Given the description of an element on the screen output the (x, y) to click on. 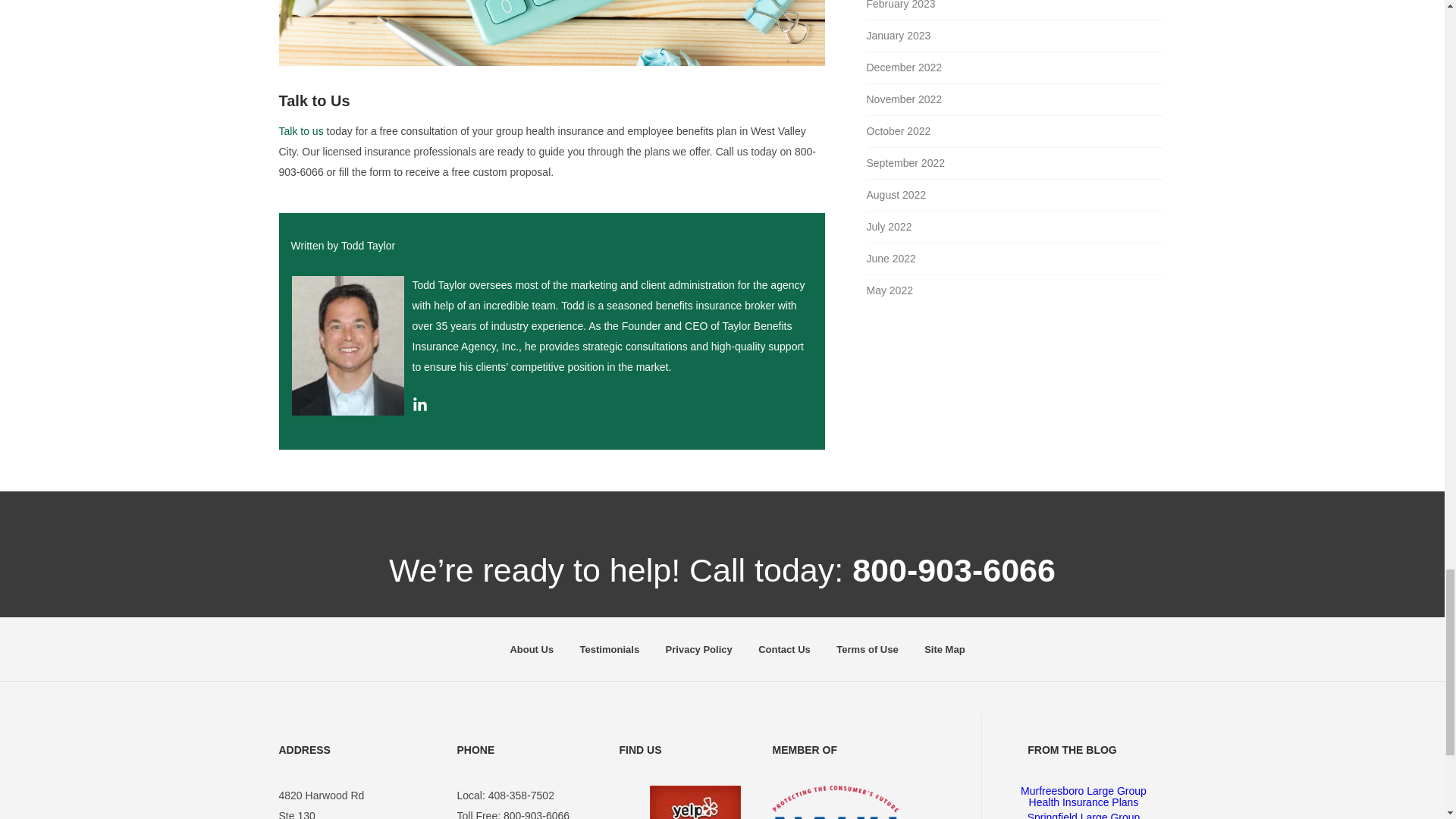
Talk to us (301, 131)
Linkedin (420, 408)
